Given the description of an element on the screen output the (x, y) to click on. 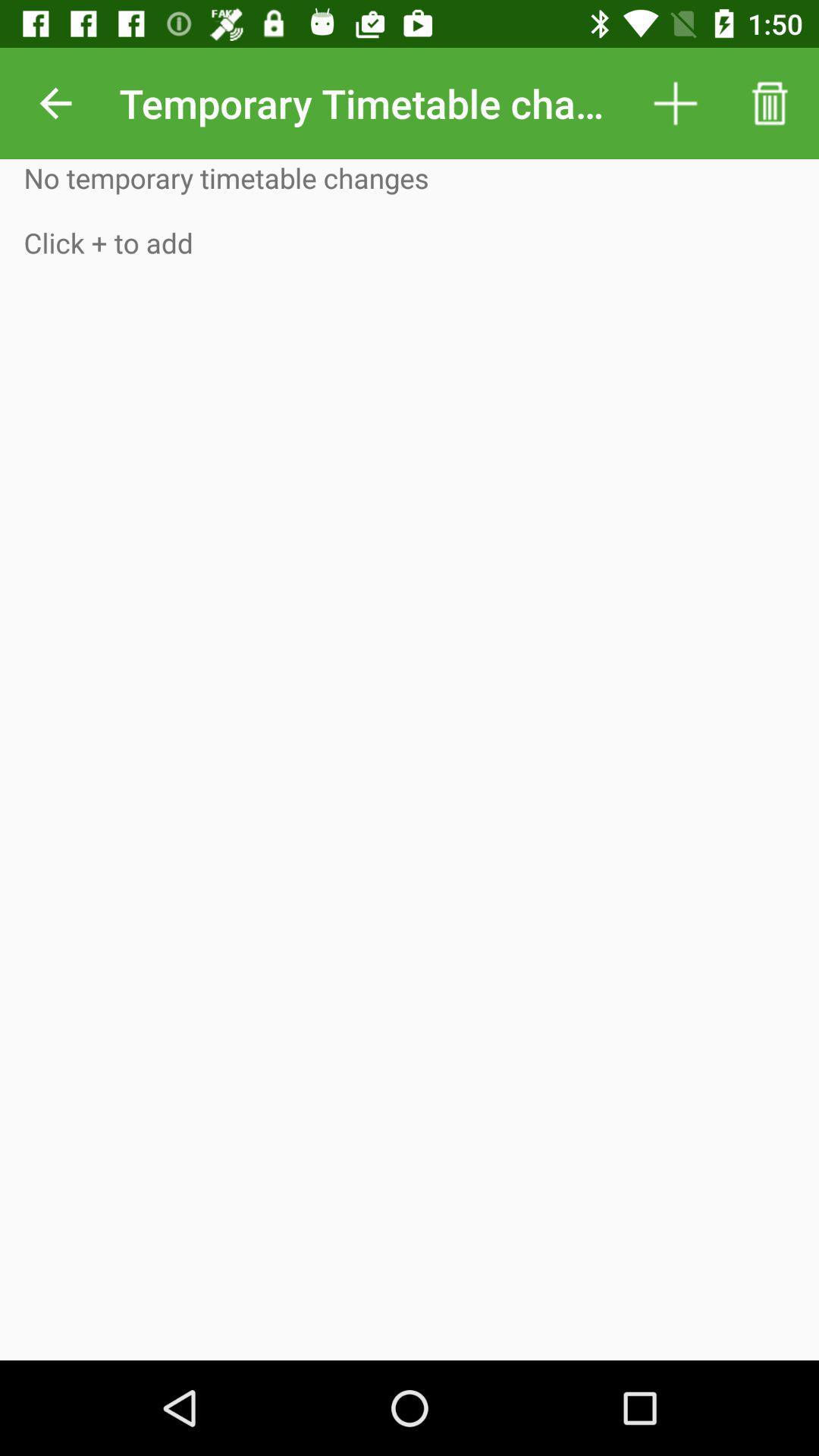
select the item above no temporary timetable (55, 103)
